Given the description of an element on the screen output the (x, y) to click on. 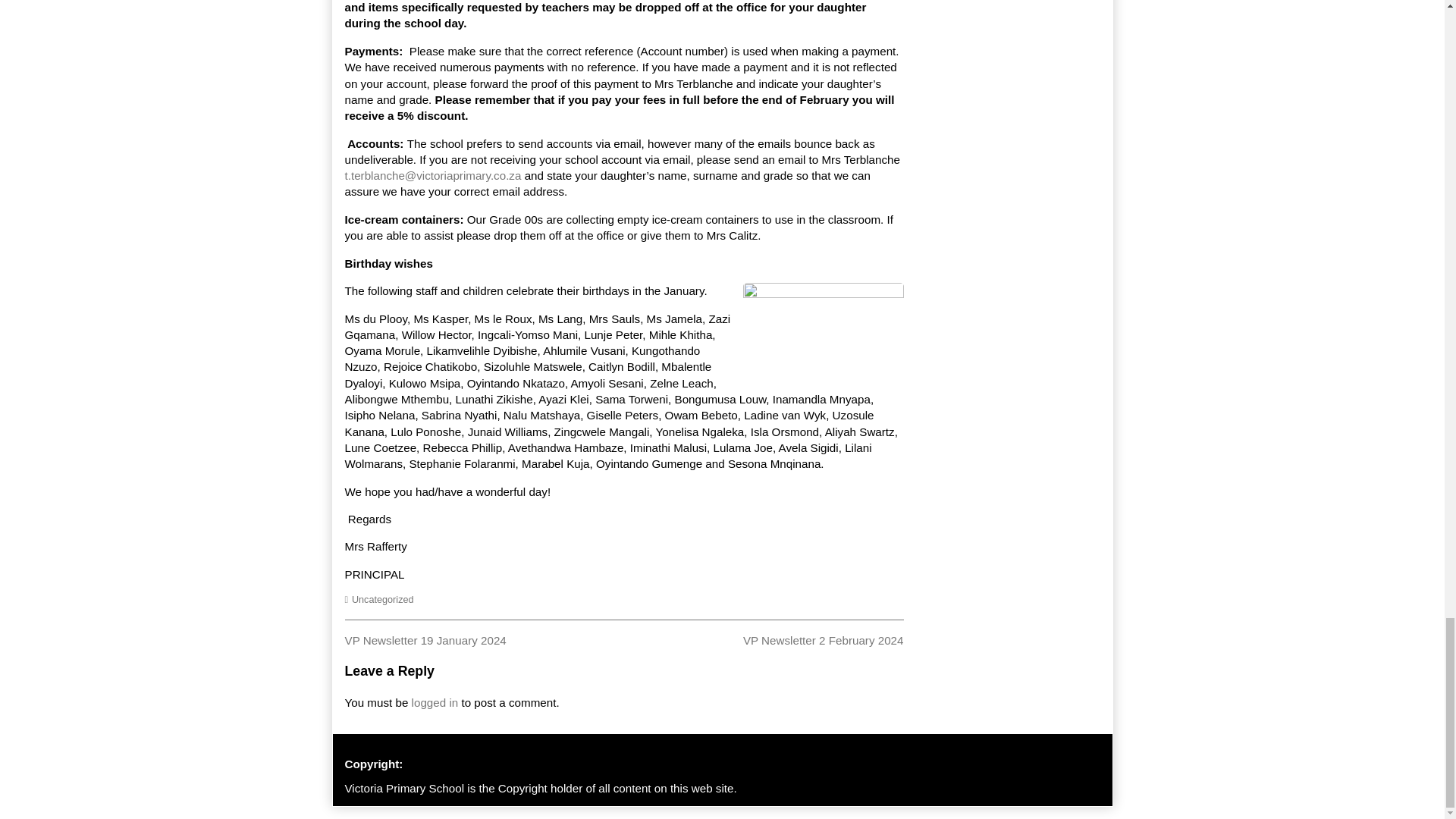
Uncategorized (424, 640)
logged in (382, 599)
